Given the description of an element on the screen output the (x, y) to click on. 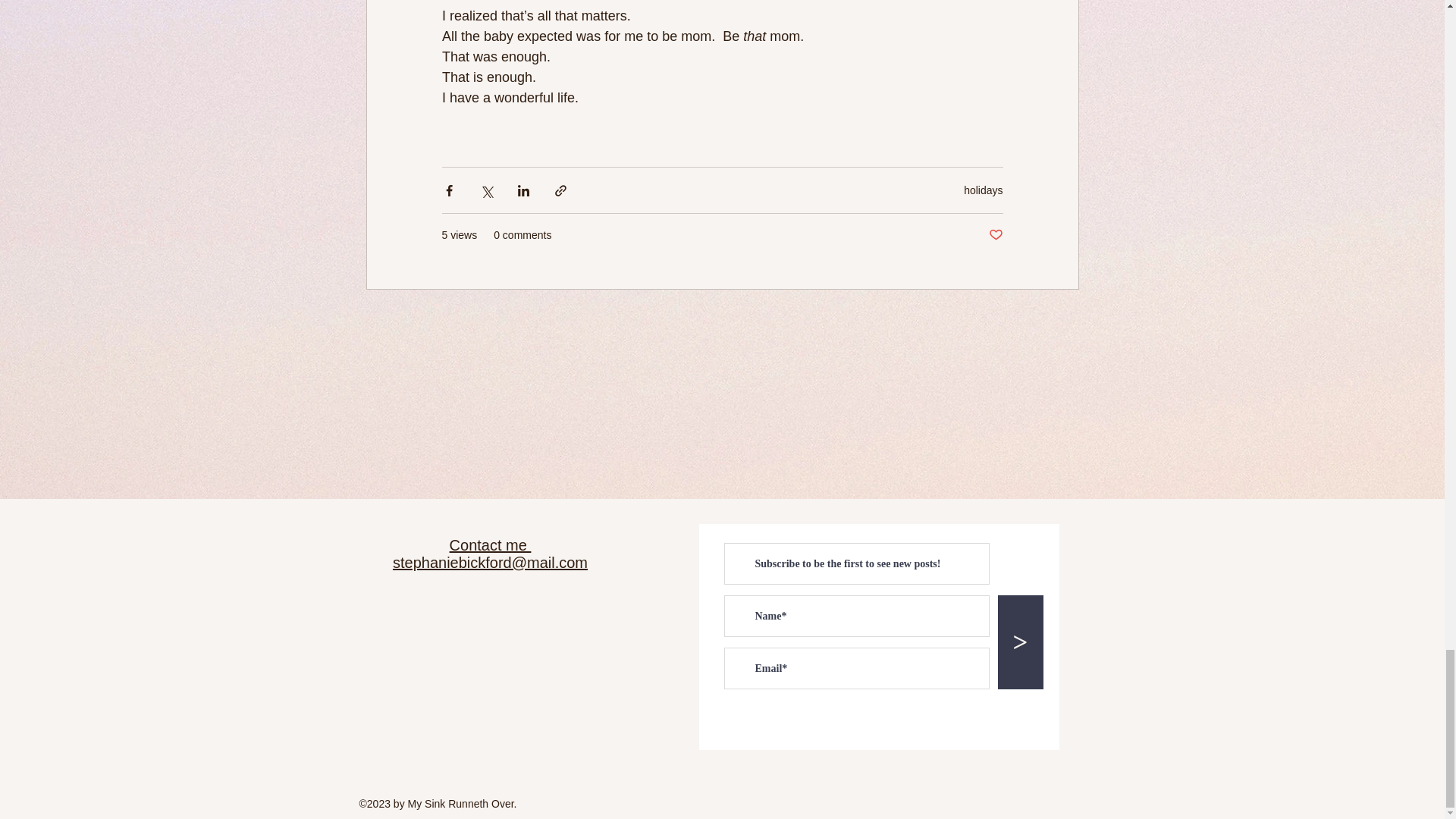
holidays (983, 190)
Post not marked as liked (995, 235)
